Given the description of an element on the screen output the (x, y) to click on. 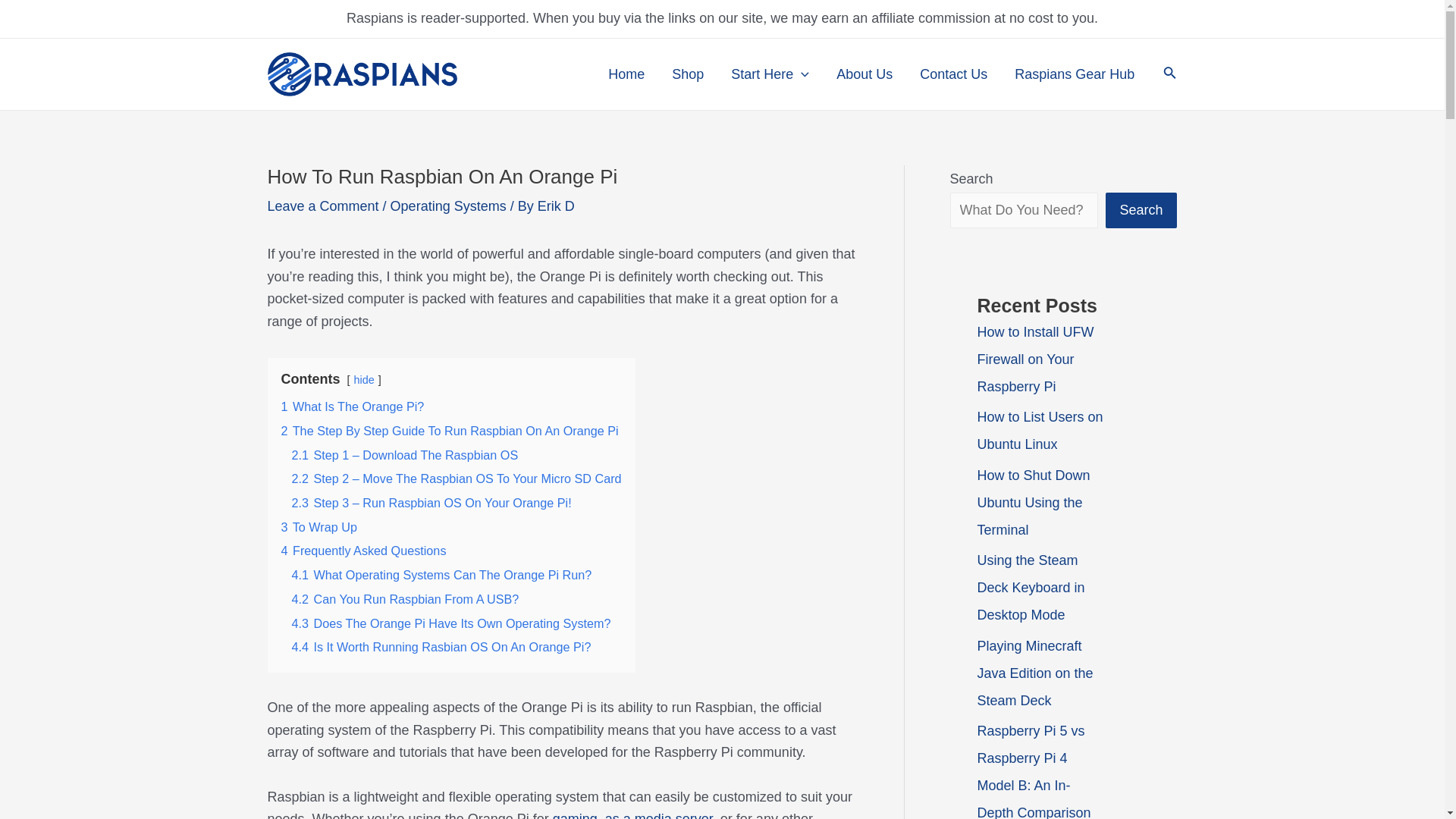
Operating Systems (448, 206)
Contact Us (953, 73)
Raspians Gear Hub (1074, 73)
View all posts by Erik D (556, 206)
Start Here (769, 73)
Home (626, 73)
Leave a Comment (322, 206)
Shop (687, 73)
About Us (863, 73)
